Given the description of an element on the screen output the (x, y) to click on. 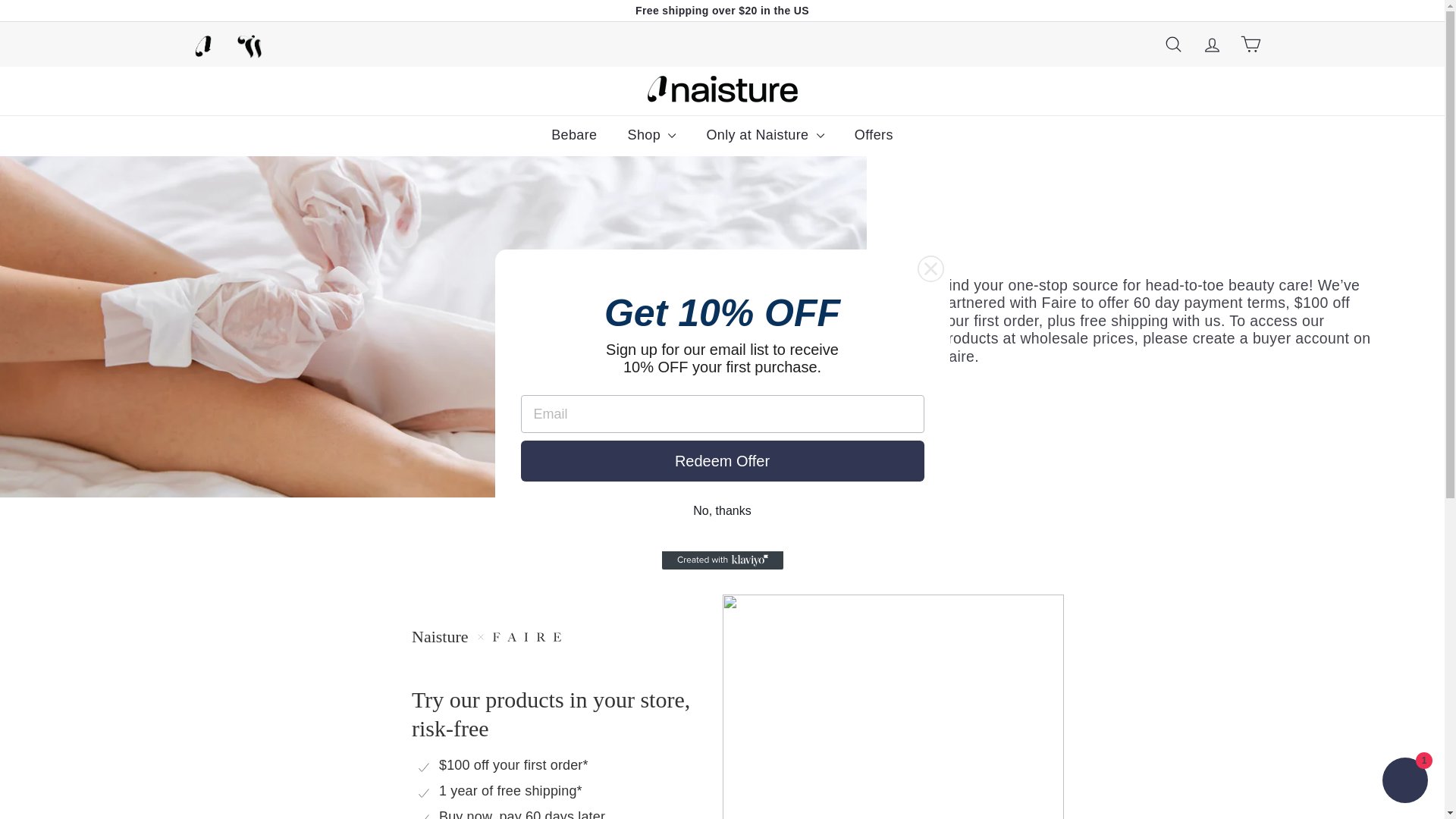
Search (1173, 44)
Cart (1250, 44)
Shopify online store chat (1404, 781)
Account (1211, 44)
Bebare (573, 135)
